Given the description of an element on the screen output the (x, y) to click on. 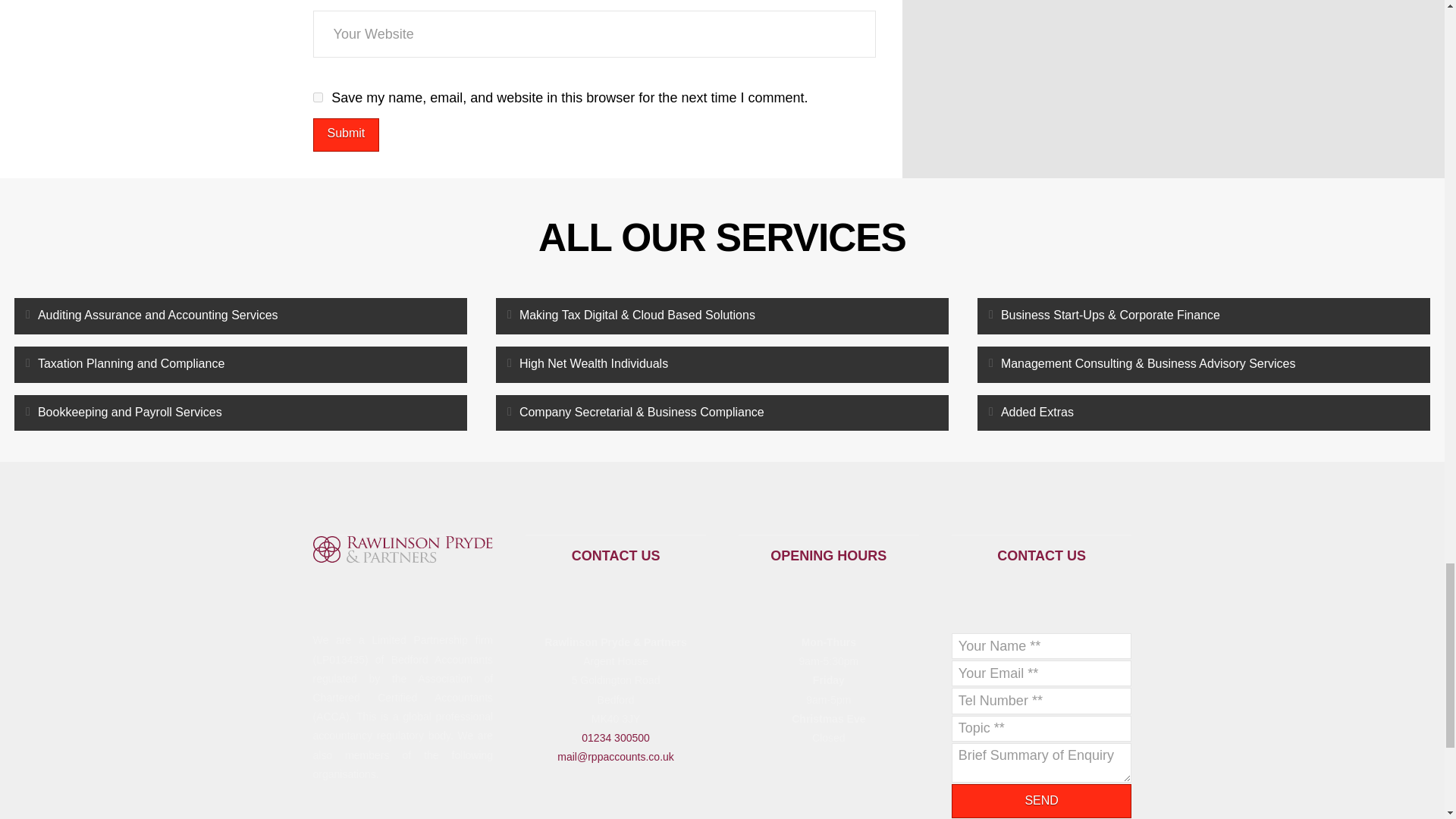
Submit (345, 134)
yes (317, 97)
SEND (1042, 800)
